Given the description of an element on the screen output the (x, y) to click on. 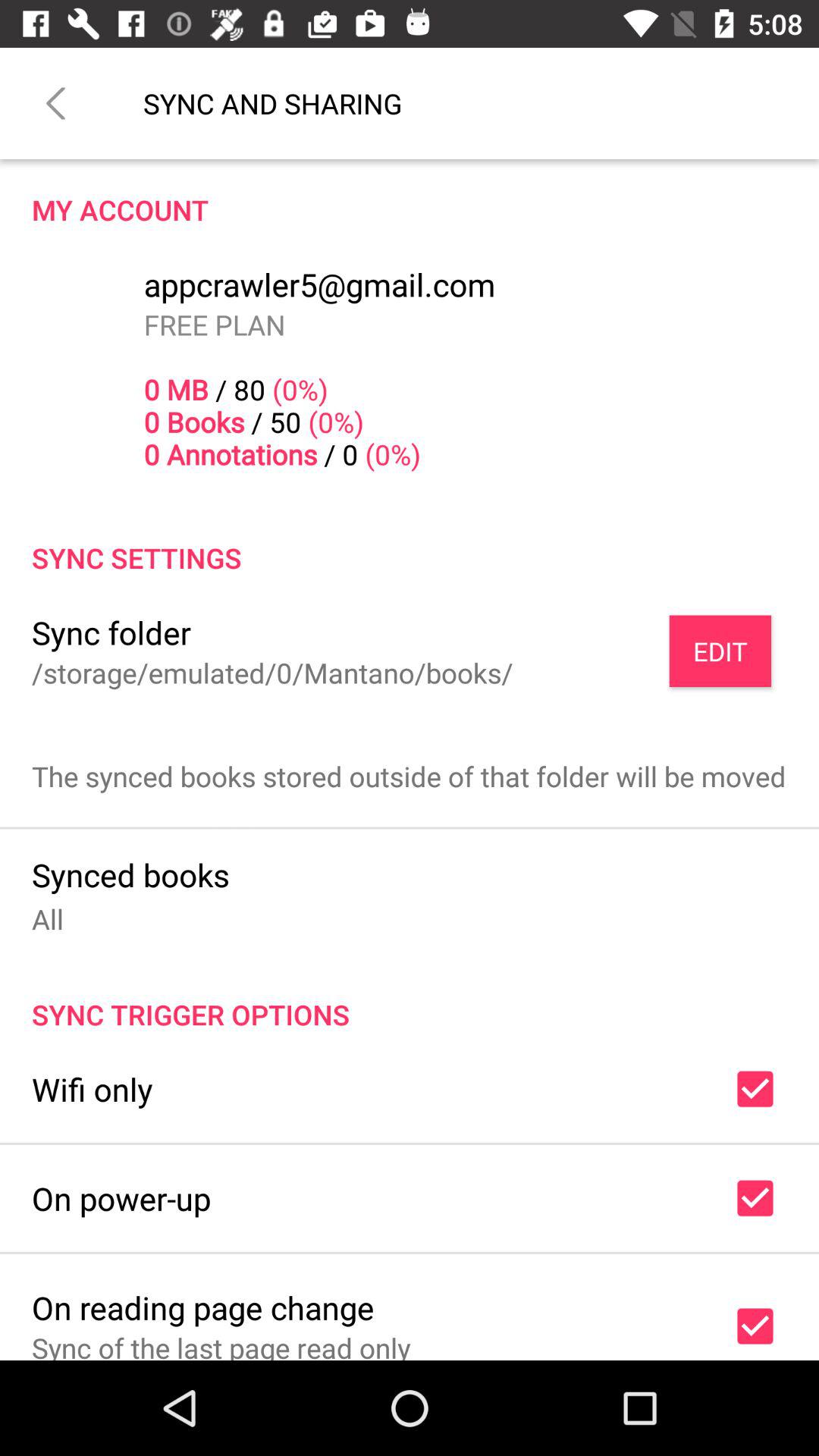
turn off icon to the left of edit item (111, 632)
